Given the description of an element on the screen output the (x, y) to click on. 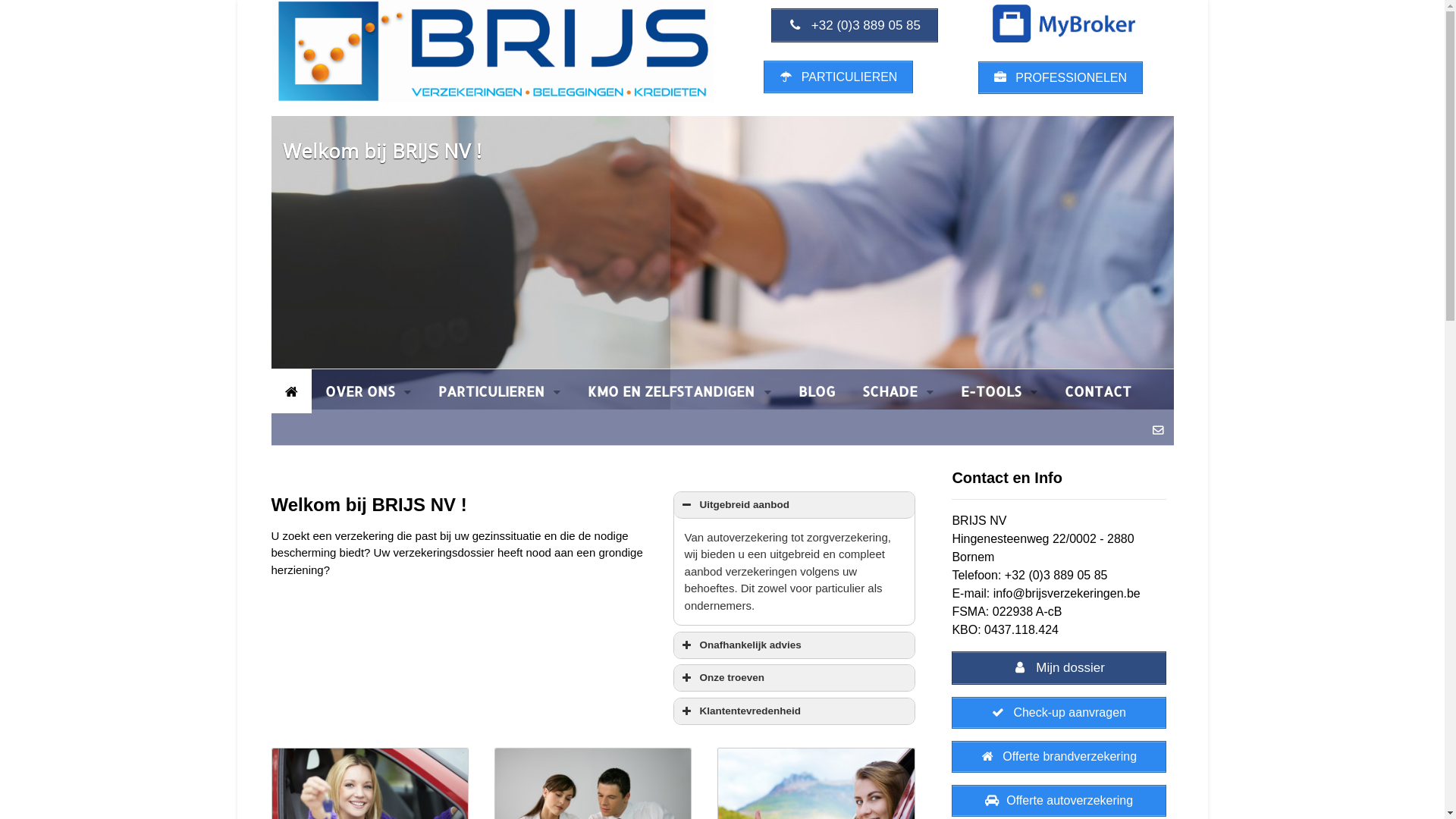
Mijn dossier Element type: text (1058, 667)
PARTICULIEREN Element type: text (838, 76)
KMO EN ZELFSTANDIGEN Element type: text (679, 391)
Offerte brandverzekering Element type: text (1058, 756)
Check-up aanvragen Element type: text (1058, 712)
E-TOOLS Element type: text (999, 391)
CONTACT Element type: text (1098, 391)
PROFESSIONELEN Element type: text (1059, 77)
+32 (0)3 889 05 85 Element type: text (853, 25)
OVER ONS Element type: text (366, 391)
Offerte autoverzekering Element type: text (1058, 800)
BLOG Element type: text (816, 391)
PARTICULIEREN Element type: text (499, 391)
SCHADE Element type: text (897, 391)
